Given the description of an element on the screen output the (x, y) to click on. 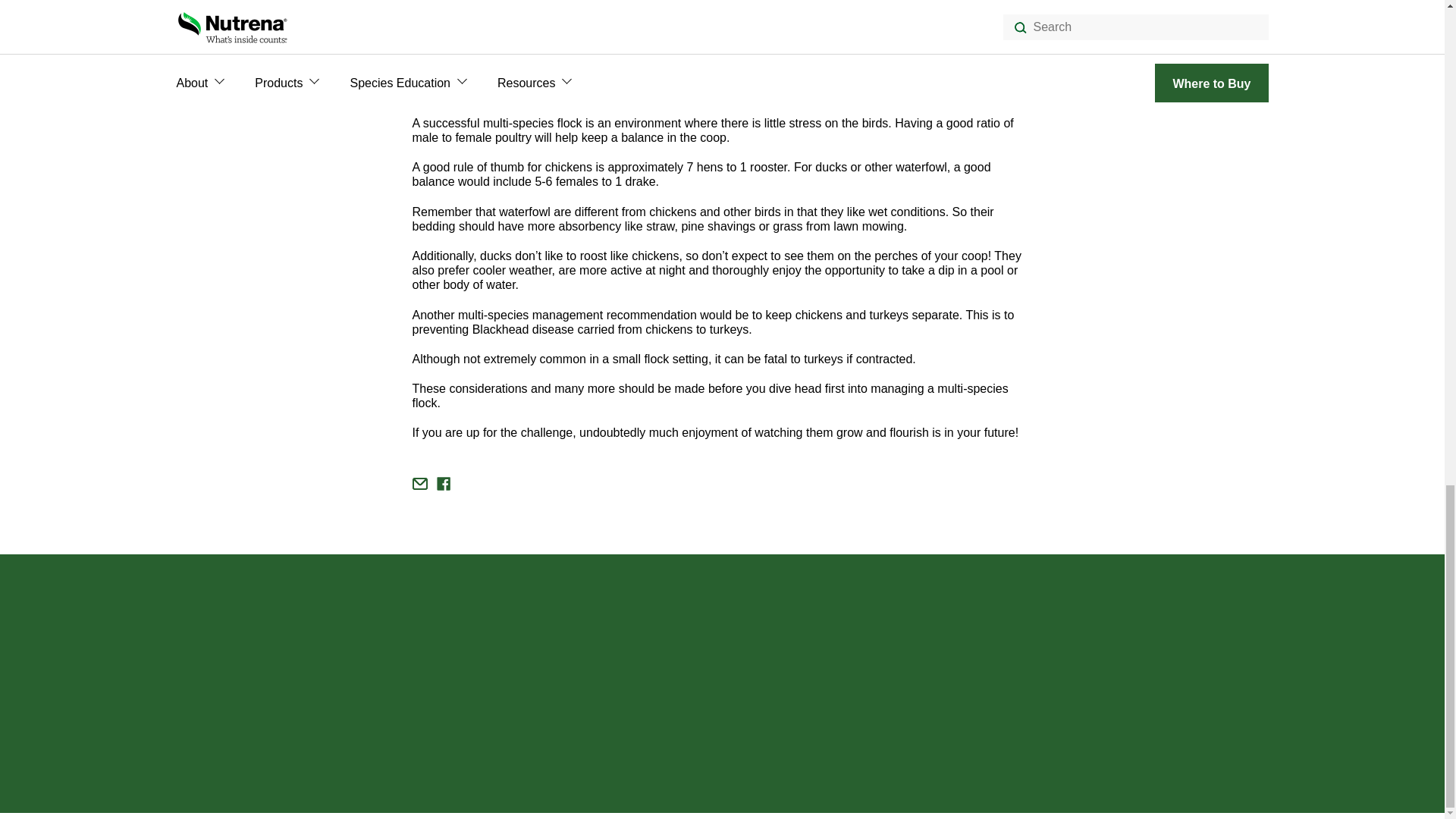
Share this post via Facebook (442, 483)
Share this post via Email (420, 483)
